Given the description of an element on the screen output the (x, y) to click on. 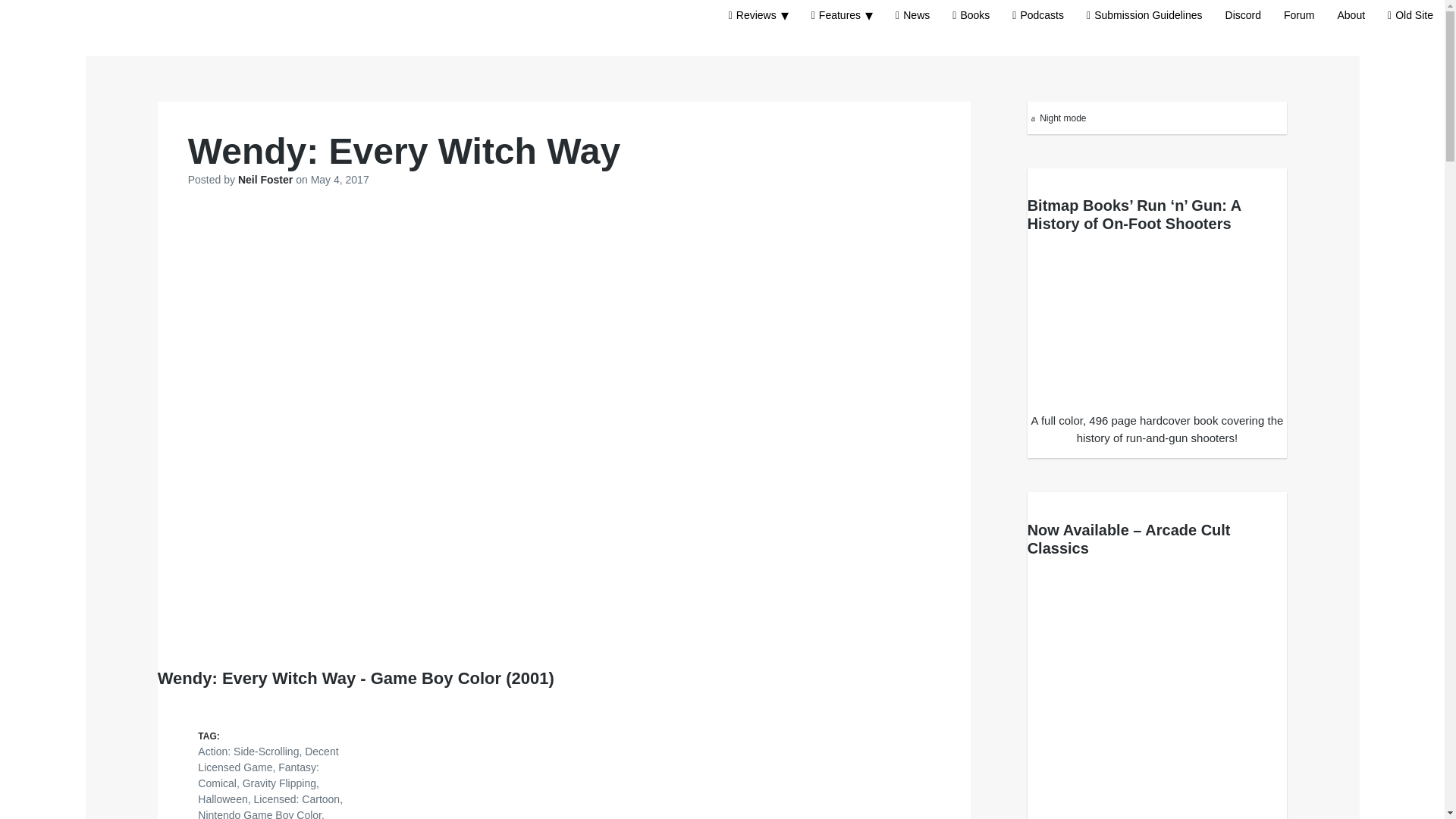
Nintendo Game Boy Color (259, 814)
Fantasy: Comical (258, 775)
Gravity Flipping (279, 783)
Halloween (222, 799)
Licensed: Cartoon (296, 799)
Neil Foster (266, 179)
Action: Side-Scrolling (248, 751)
Decent Licensed Game (267, 759)
